Given the description of an element on the screen output the (x, y) to click on. 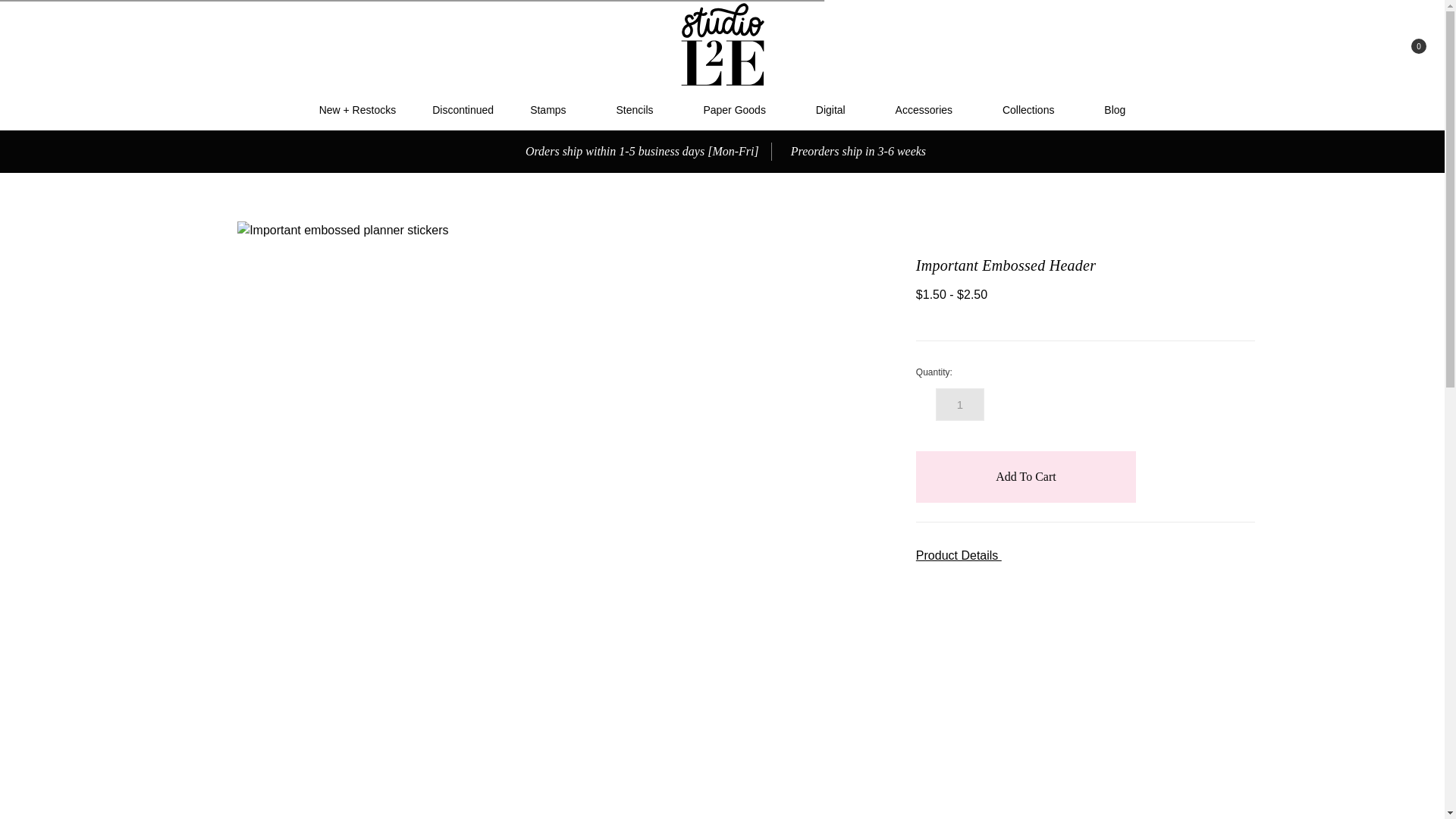
Add to Cart (1025, 476)
Stamps (554, 110)
Paper Goods (740, 110)
Discontinued (462, 110)
1 (960, 404)
0 (1405, 45)
STUDIO L2E (721, 44)
Stencils (640, 110)
Product Details (1085, 556)
